Given the description of an element on the screen output the (x, y) to click on. 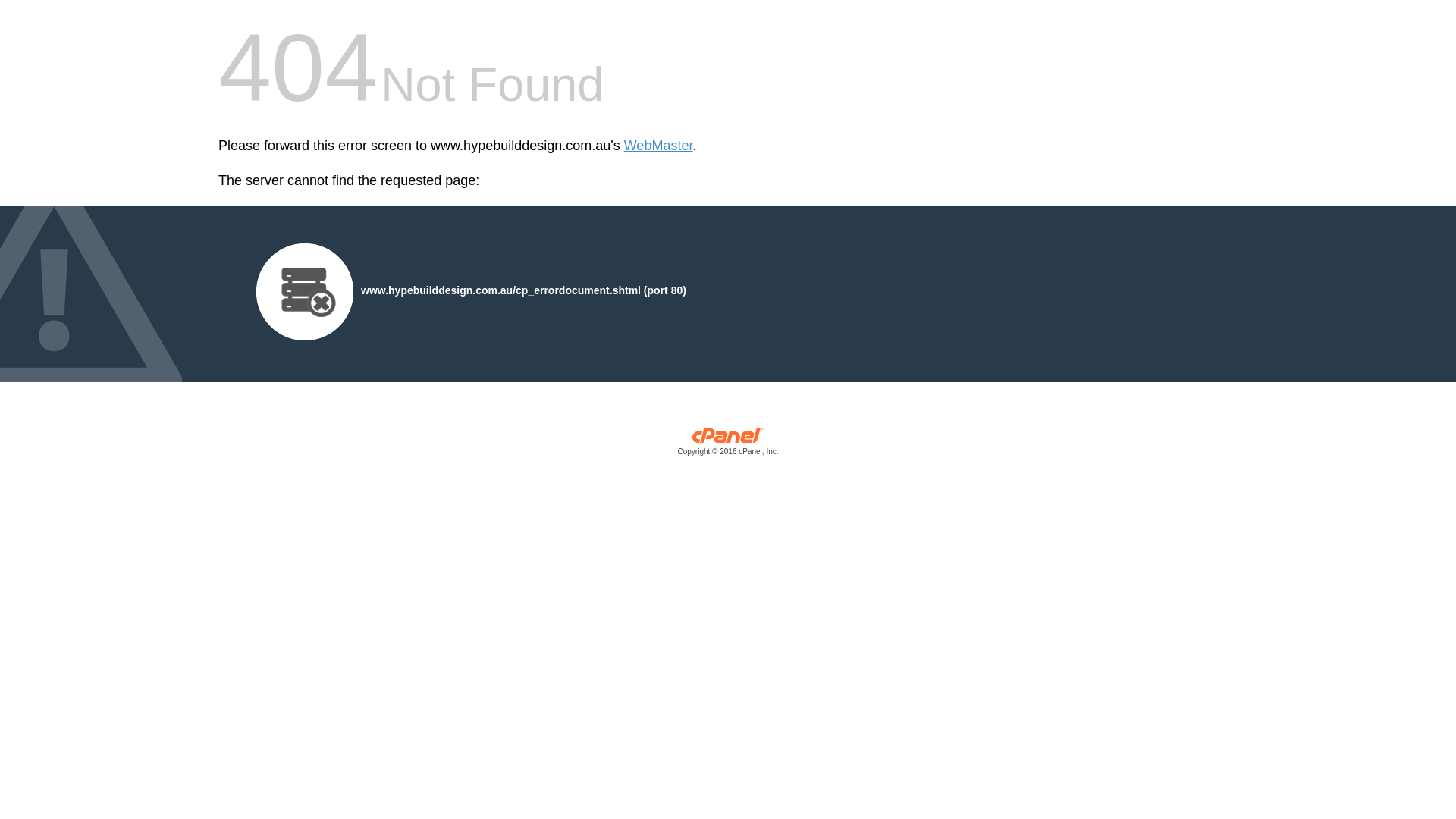
WebMaster Element type: text (658, 145)
